Given the description of an element on the screen output the (x, y) to click on. 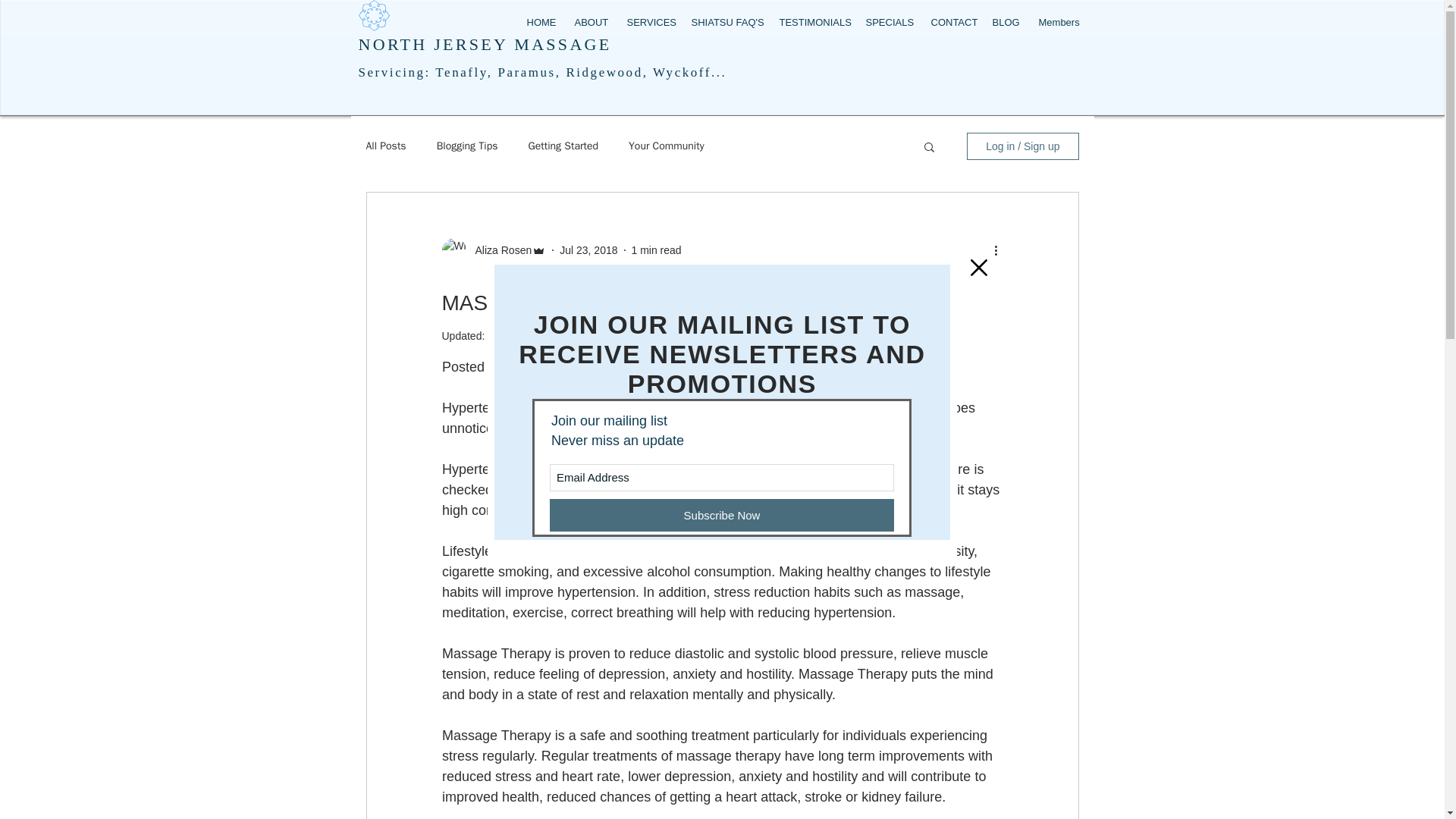
Jul 23, 2018 (588, 250)
Getting Started (562, 146)
Jan 23, 2019 (517, 336)
NORTH JERSEY MASSAGE (484, 44)
ABOUT (588, 22)
CONTACT (948, 22)
Members (1057, 22)
Aliza Rosen (498, 250)
HOME (539, 22)
Back to site (979, 267)
SPECIALS (885, 22)
1 min read (655, 250)
Your Community (666, 146)
Blogging Tips (466, 146)
SERVICES (647, 22)
